Given the description of an element on the screen output the (x, y) to click on. 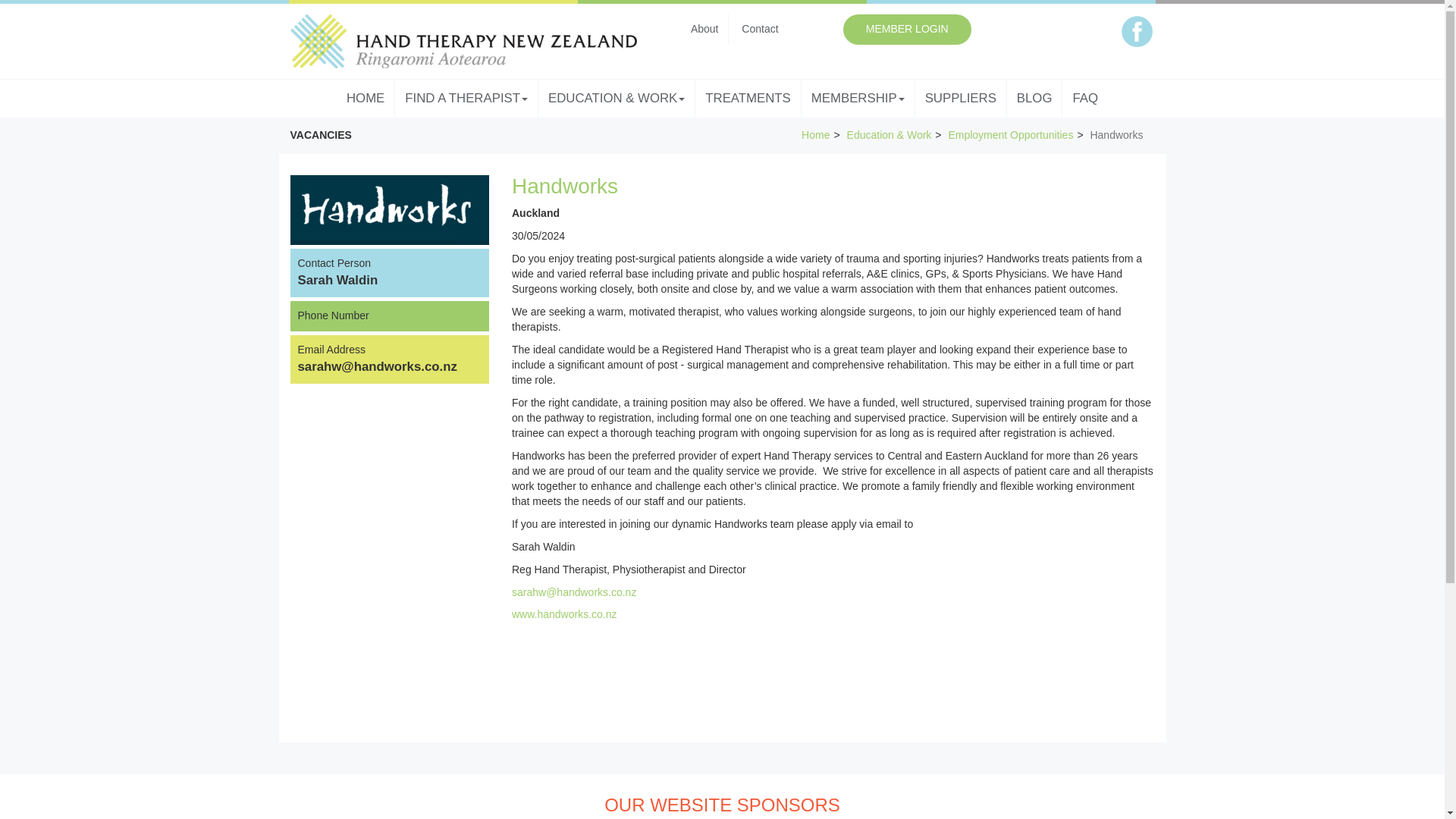
www.handworks.co.nz (564, 613)
MEMBER LOGIN (907, 29)
HOME (365, 98)
About (705, 29)
FIND A THERAPIST (466, 98)
Home (815, 134)
BLOG (1034, 98)
MEMBERSHIP (858, 98)
TREATMENTS (748, 98)
Facebook (1136, 31)
Contact (759, 29)
Employment Opportunities (1010, 134)
FAQ (1085, 98)
SUPPLIERS (961, 98)
